Given the description of an element on the screen output the (x, y) to click on. 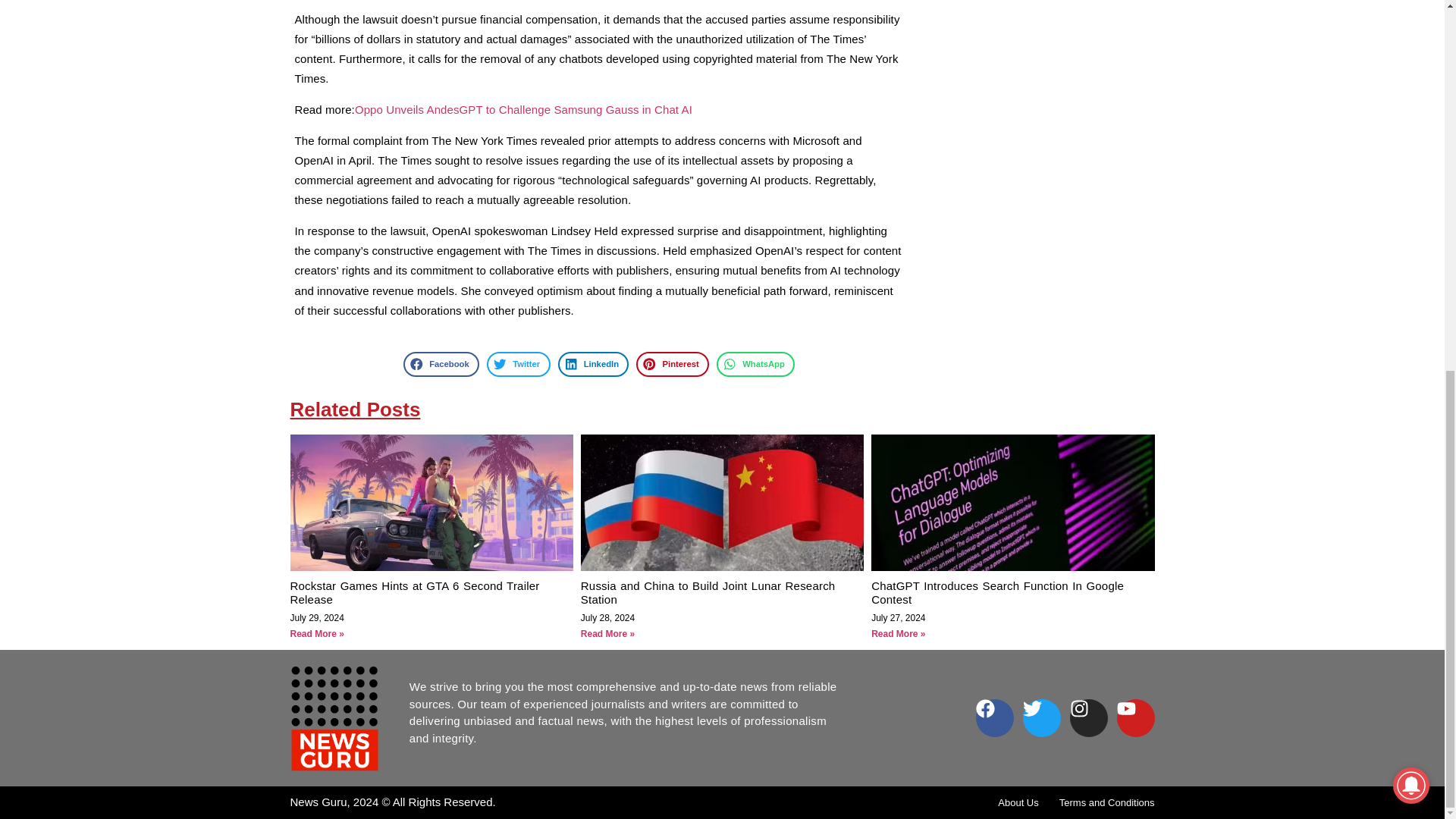
WebsiteVoice (1352, 164)
